Given the description of an element on the screen output the (x, y) to click on. 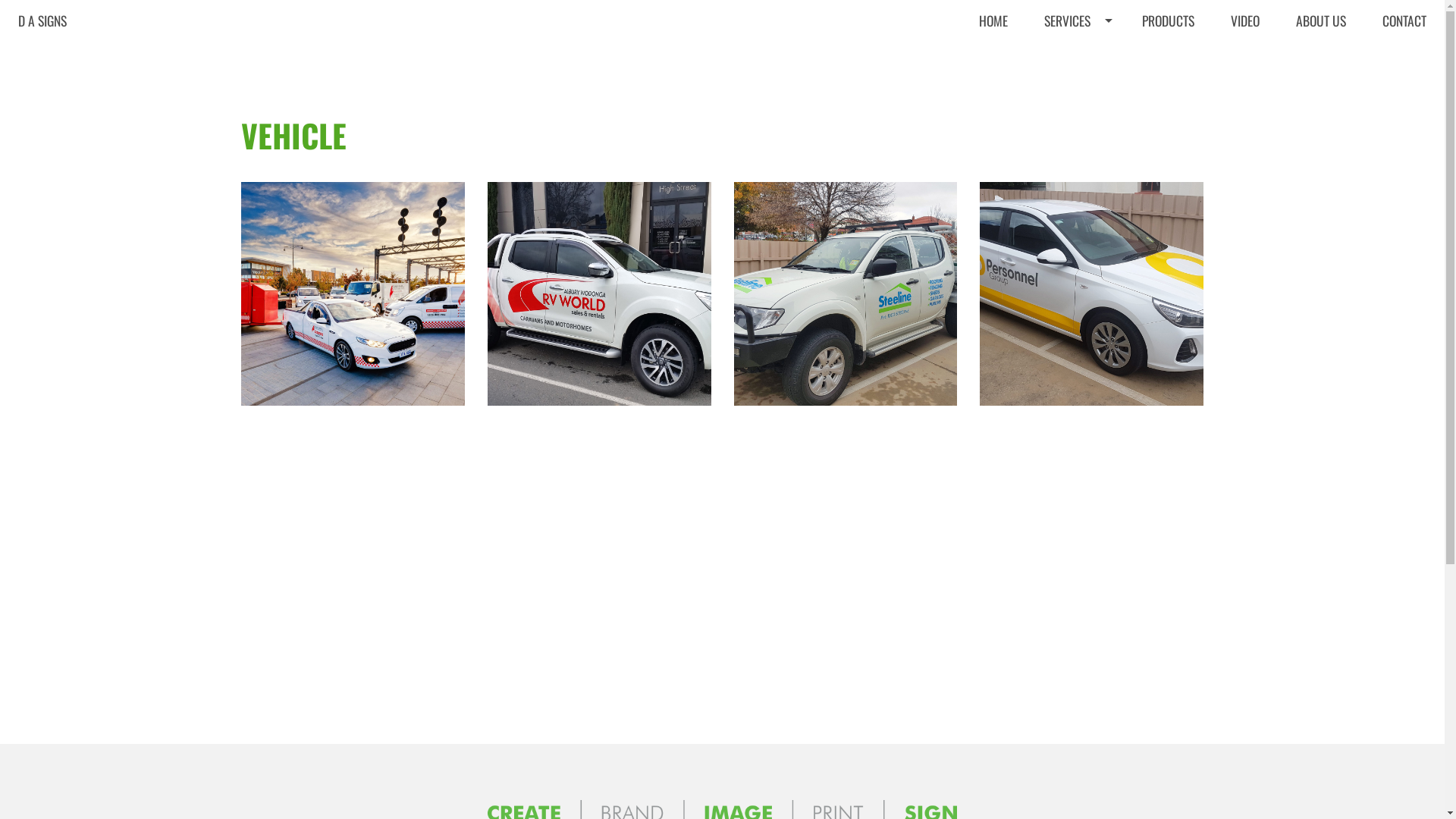
IMAGE Element type: text (1074, 114)
SIGN Element type: text (1074, 173)
ABOUT US Element type: text (1320, 20)
CREATE Element type: text (1074, 55)
D A SIGNS Element type: text (42, 20)
BRAND Element type: text (1074, 85)
PRINT Element type: text (1074, 144)
PRODUCTS Element type: text (1167, 20)
VIDEO Element type: text (1244, 20)
CONTACT Element type: text (1404, 20)
HOME Element type: text (993, 20)
SERVICES Element type: text (1074, 20)
